Given the description of an element on the screen output the (x, y) to click on. 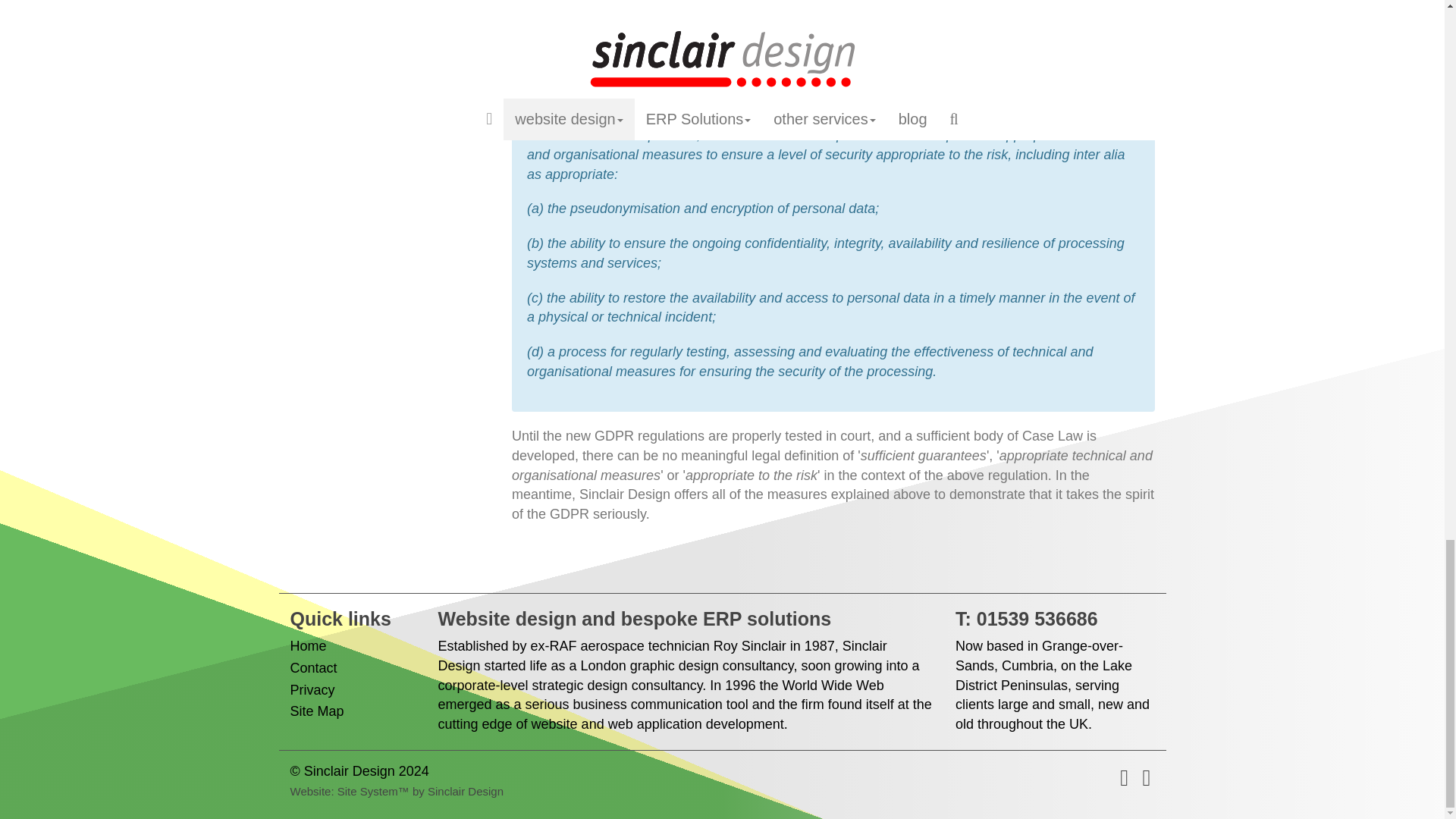
Contact (312, 667)
Site Map (316, 711)
Visit Sinclair Design's Website (420, 790)
Privacy (311, 689)
Home (307, 645)
